Given the description of an element on the screen output the (x, y) to click on. 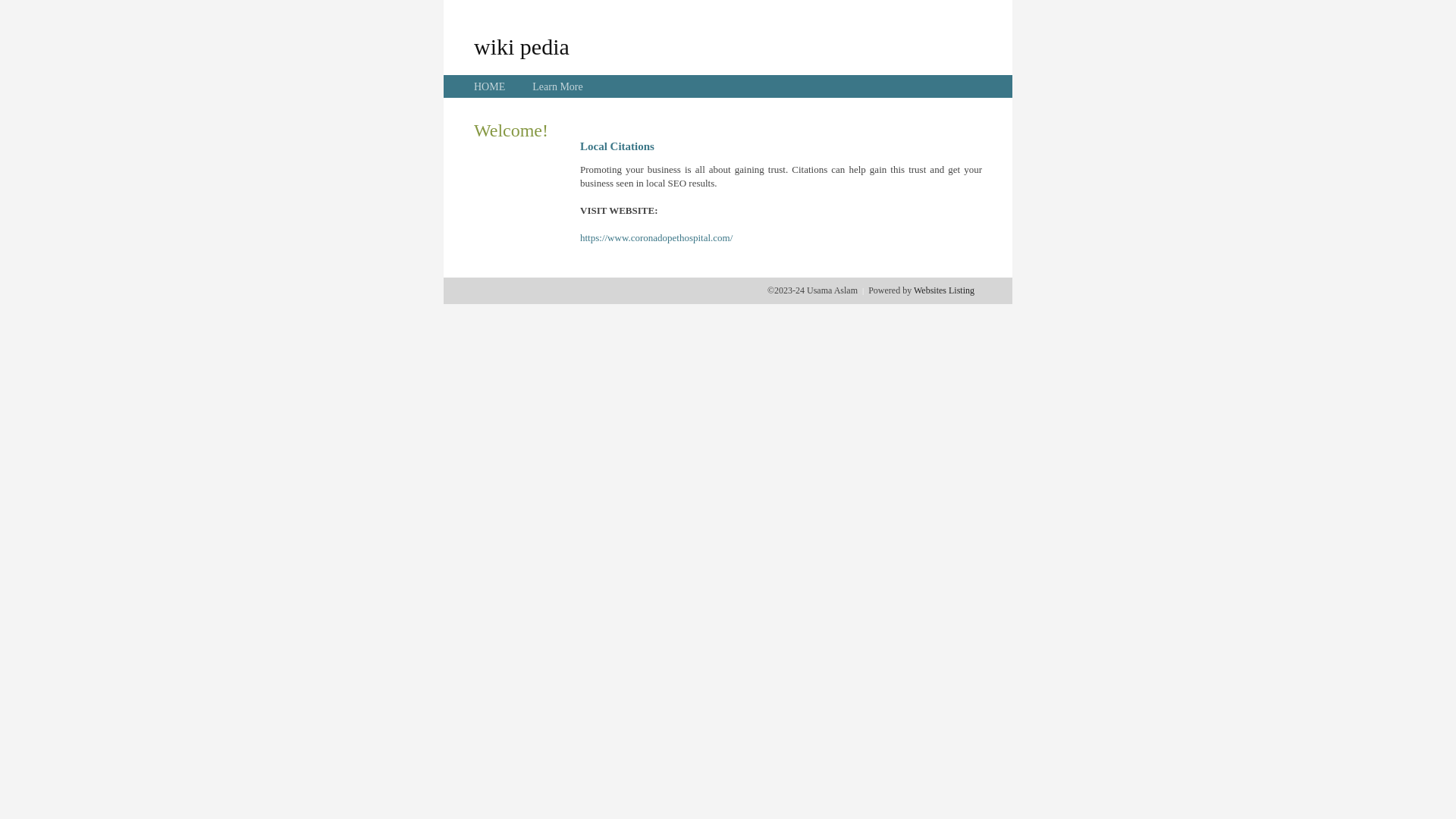
HOME Element type: text (489, 86)
Websites Listing Element type: text (943, 290)
https://www.coronadopethospital.com/ Element type: text (656, 237)
Learn More Element type: text (557, 86)
wiki pedia Element type: text (521, 46)
